Given the description of an element on the screen output the (x, y) to click on. 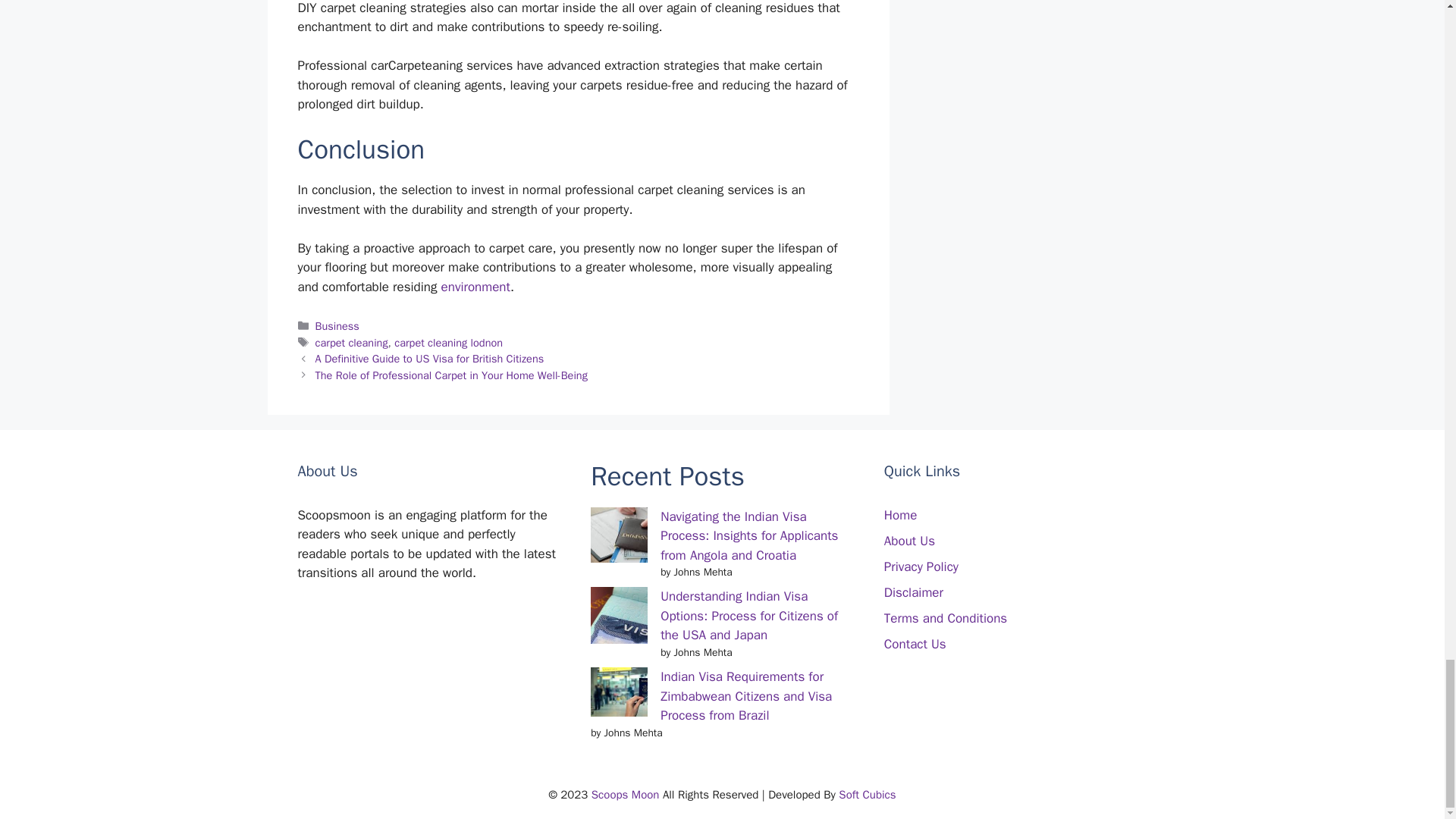
The Role of Professional Carpet in Your Home Well-Being (451, 375)
Business (337, 325)
environment (476, 286)
carpet cleaning lodnon (448, 342)
carpet cleaning (351, 342)
A Definitive Guide to US Visa for British Citizens (429, 358)
